Given the description of an element on the screen output the (x, y) to click on. 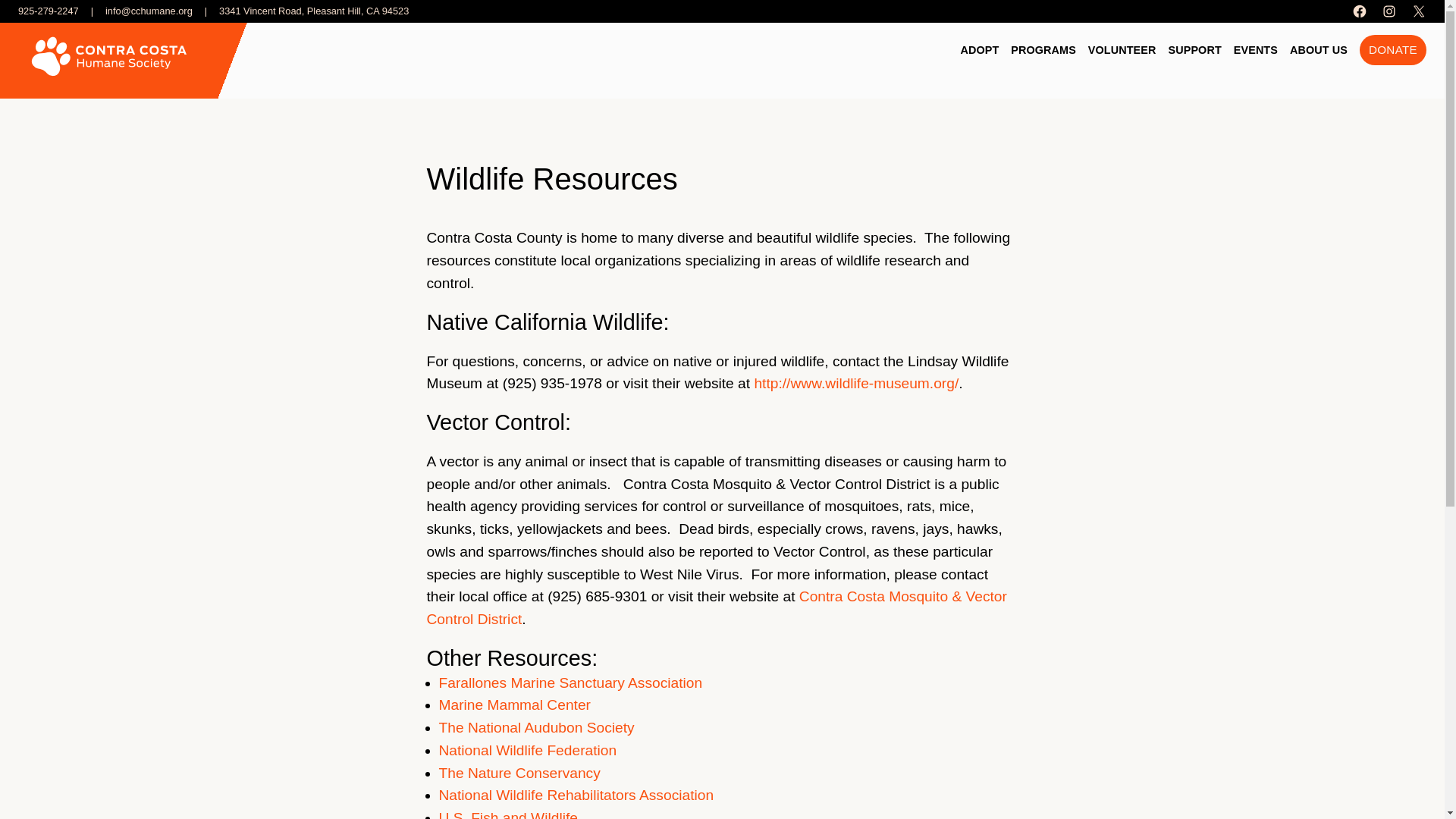
X (1418, 11)
Events (1255, 49)
PROGRAMS (1042, 49)
SUPPORT (1195, 49)
Facebook (1359, 11)
VOLUNTEER (1121, 49)
Instagram (1388, 11)
ADOPT (978, 49)
EVENTS (1255, 49)
DONATE (1392, 50)
ABOUT US (1319, 49)
